Given the description of an element on the screen output the (x, y) to click on. 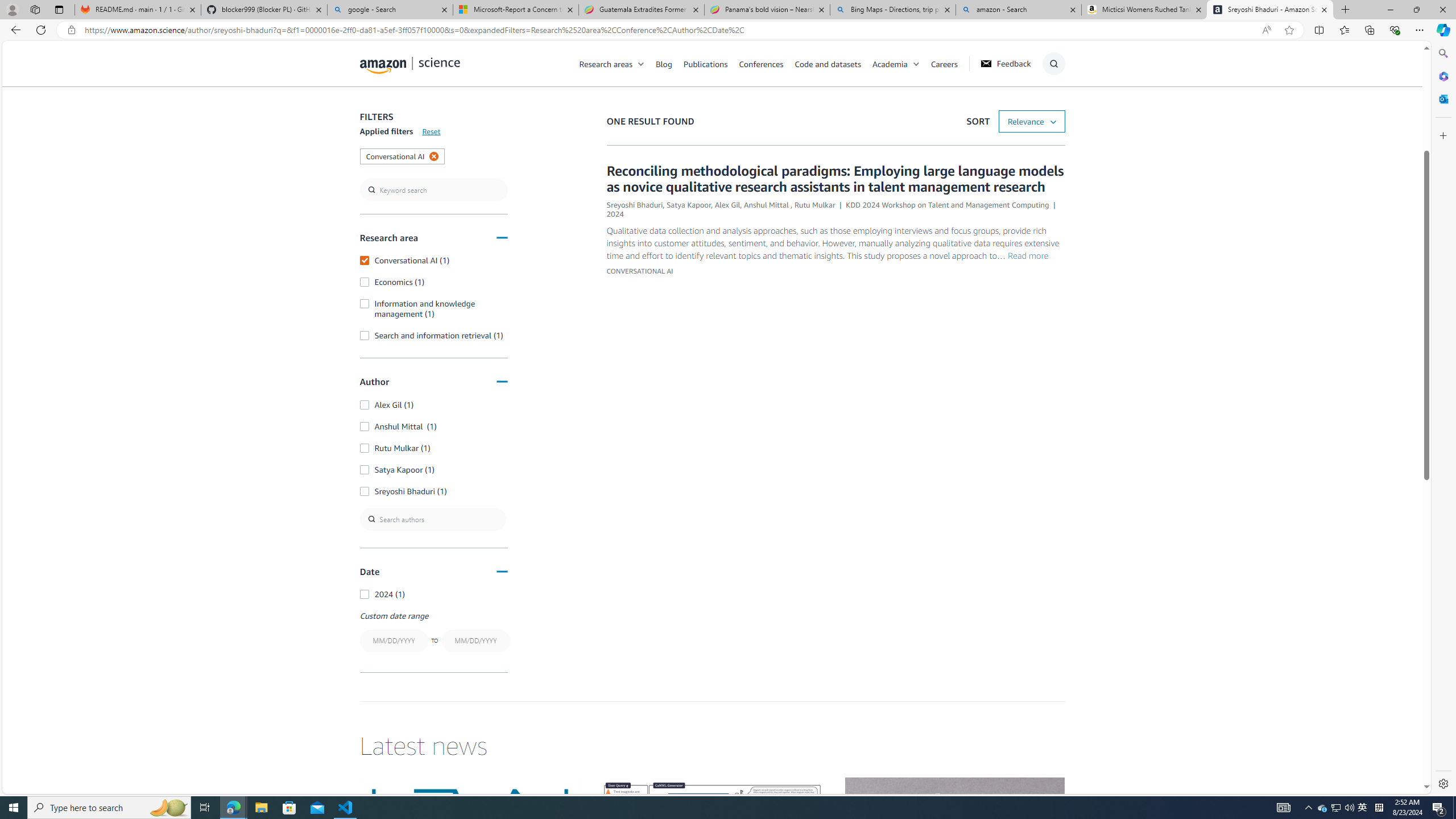
home page (409, 62)
Careers (949, 63)
Class: chevron (916, 66)
Alex Gil (727, 204)
Submit Search (1049, 108)
Conferences (760, 63)
amazon - Search (1018, 9)
